Given the description of an element on the screen output the (x, y) to click on. 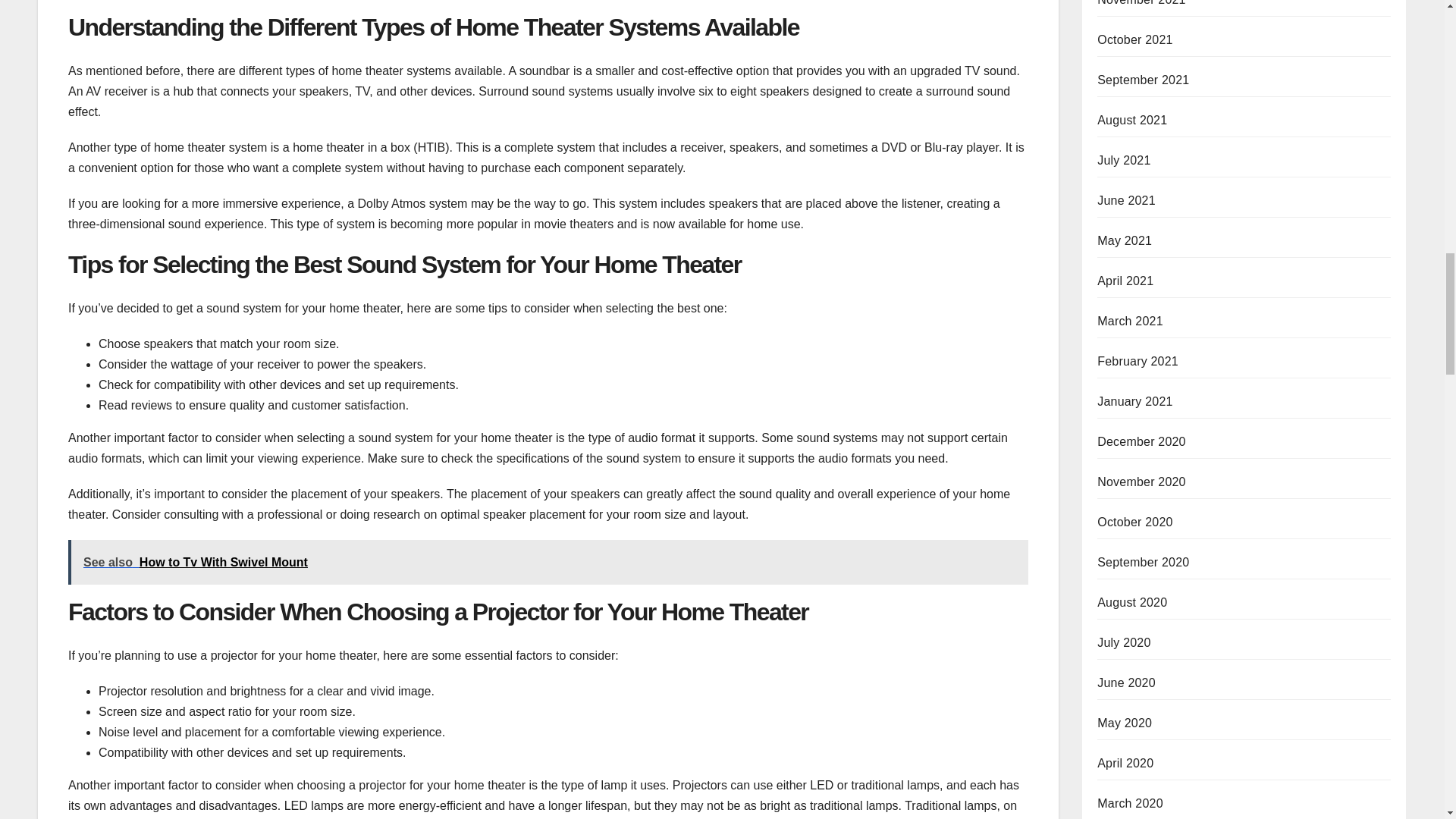
See also  How to Tv With Swivel Mount (547, 561)
